Given the description of an element on the screen output the (x, y) to click on. 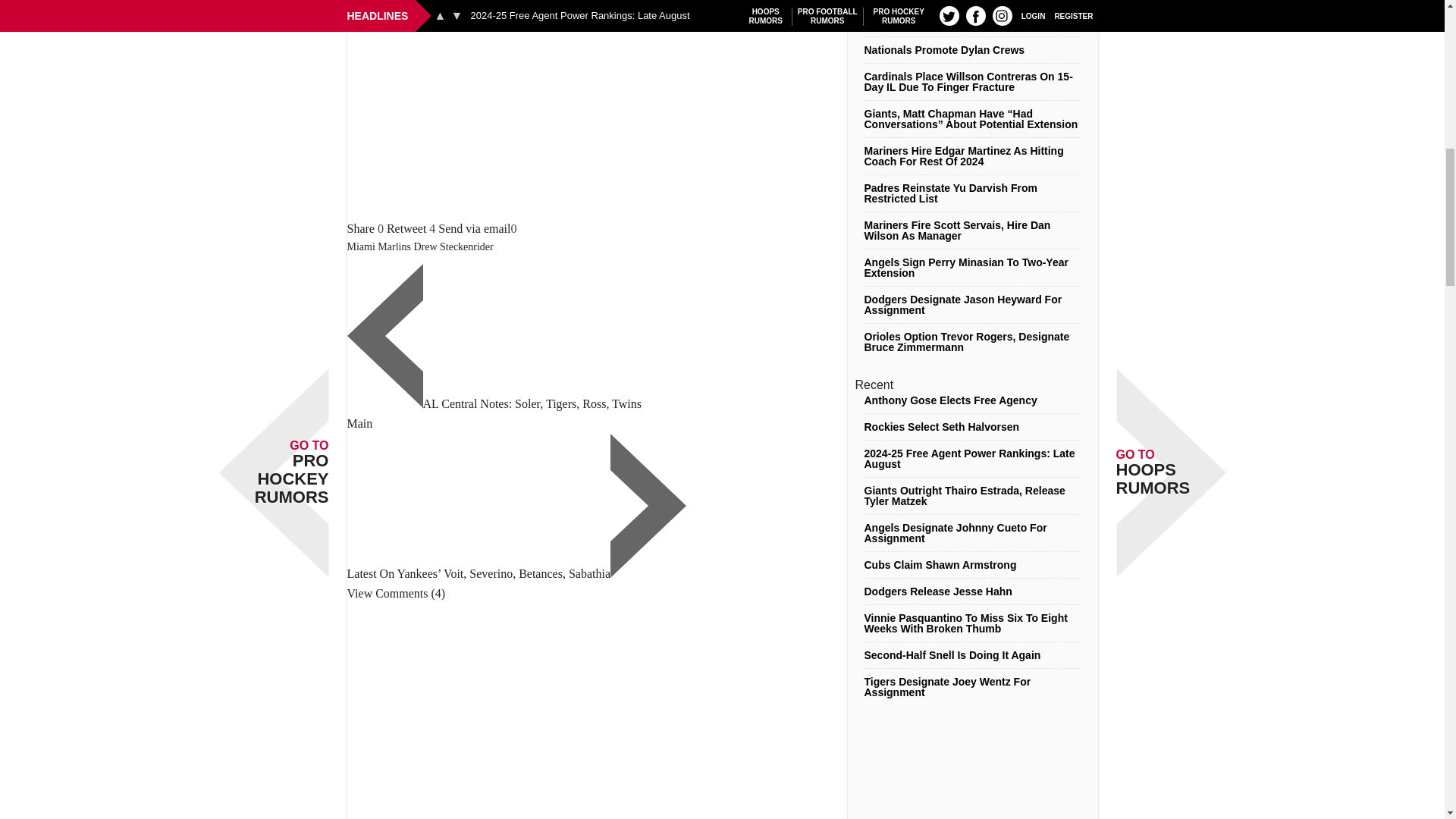
Retweet 'Drew Steckenrider Done For Season' on Twitter (406, 228)
Share 'Drew Steckenrider Done For Season' on Facebook (360, 228)
Send Drew Steckenrider Done For Season with an email (474, 228)
